Given the description of an element on the screen output the (x, y) to click on. 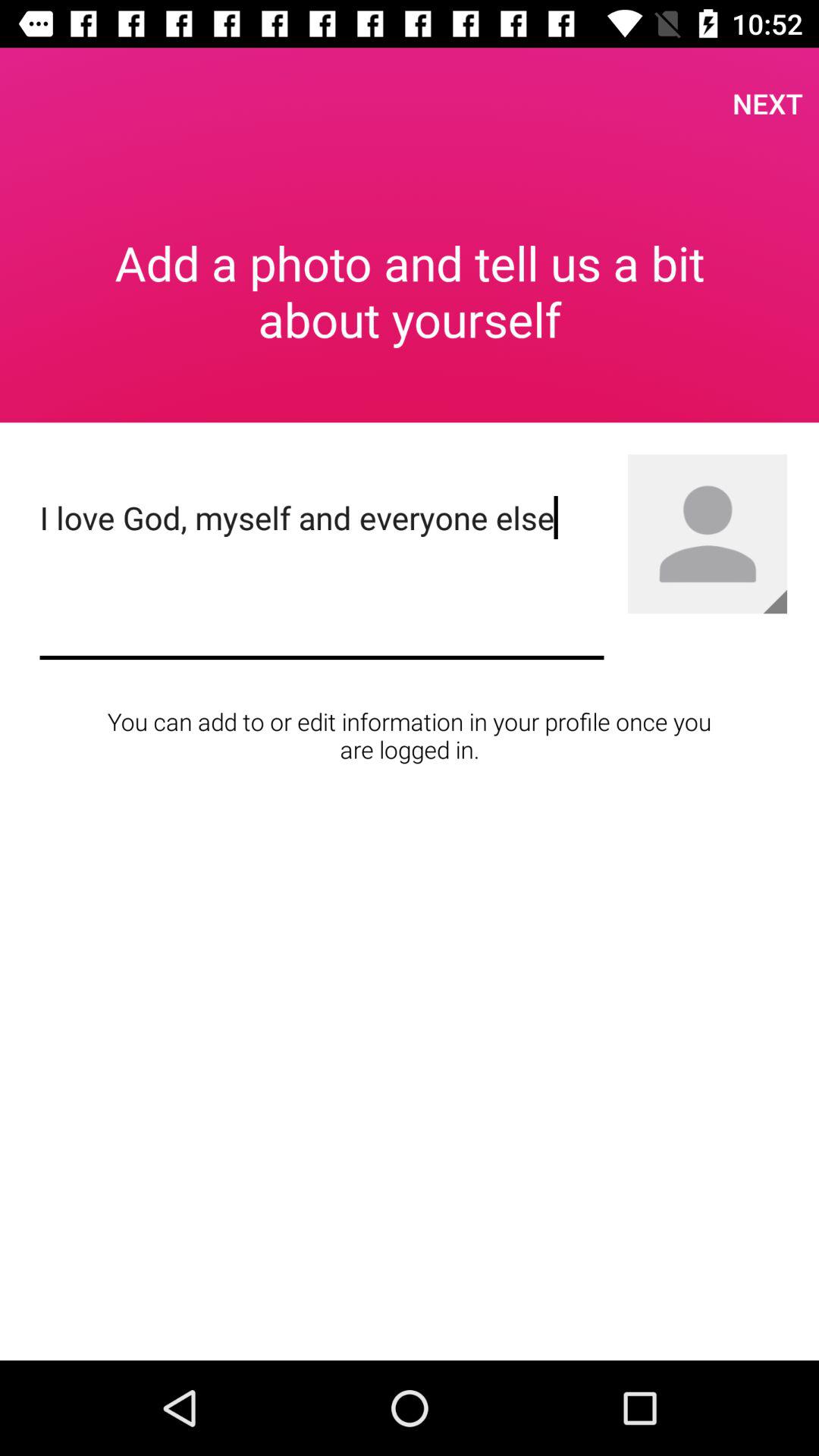
tap the icon above you can add icon (321, 574)
